Given the description of an element on the screen output the (x, y) to click on. 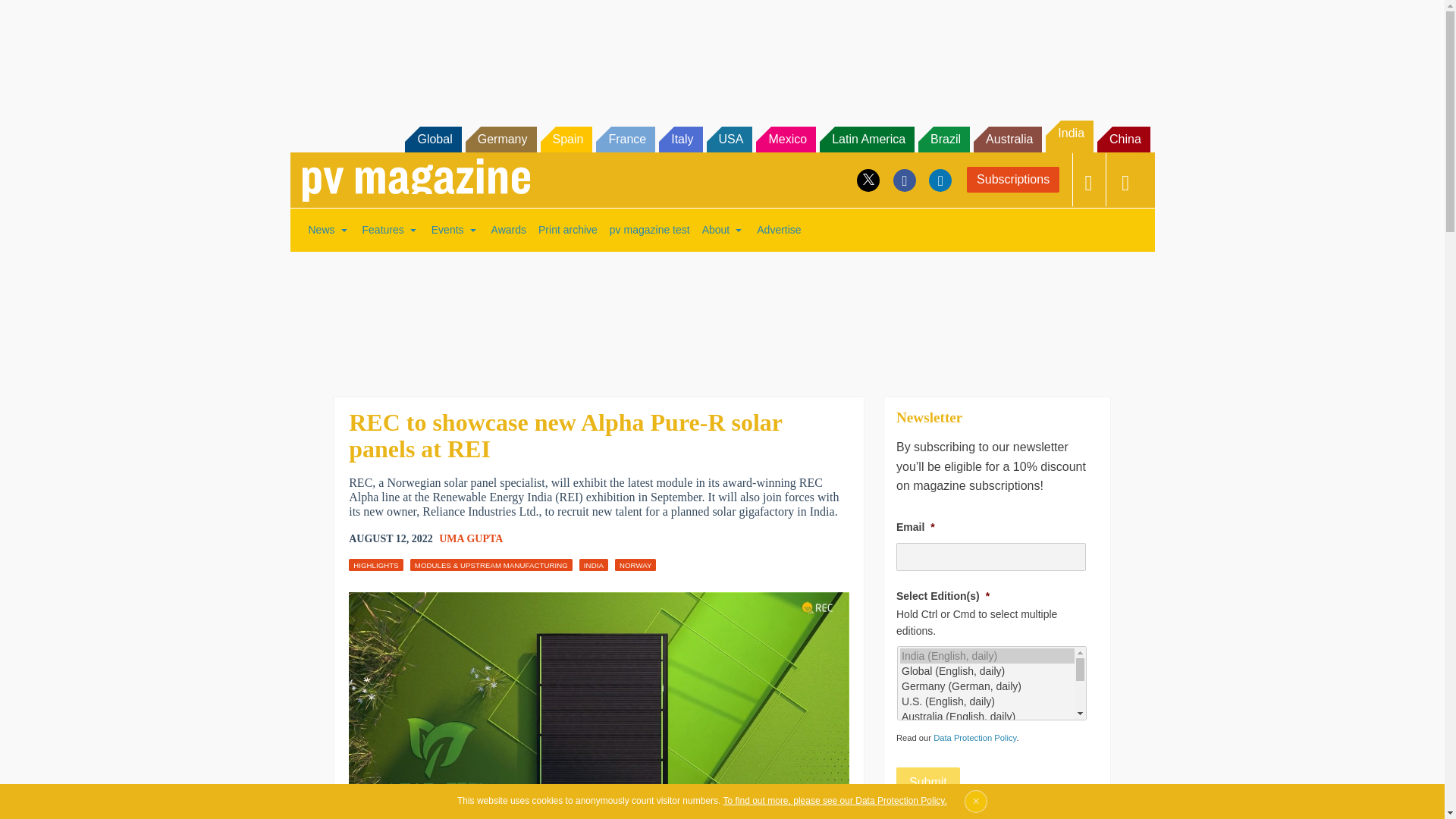
Latin America (866, 139)
Italy (680, 139)
Global (432, 139)
Australia (1008, 139)
Mexico (785, 139)
3rd party ad content (721, 51)
Search (32, 15)
Posts by Uma Gupta (470, 538)
3rd party ad content (721, 314)
Submit (927, 782)
pv magazine - Photovoltaics Markets and Technology (415, 180)
France (625, 139)
Subscriptions (1012, 179)
Spain (566, 139)
pv magazine - Photovoltaics Markets and Technology (415, 179)
